Given the description of an element on the screen output the (x, y) to click on. 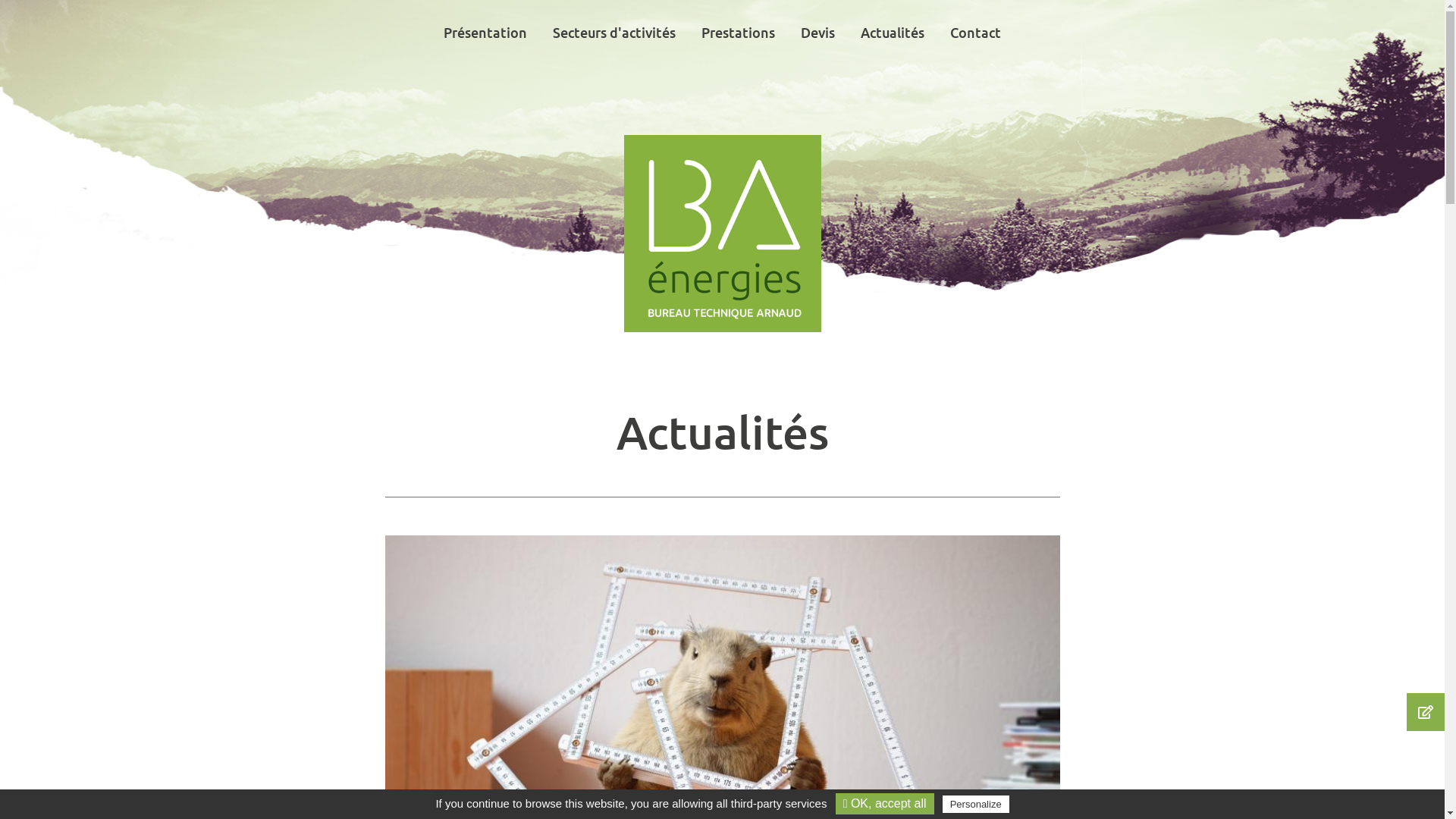
Prestations Element type: text (738, 32)
Personalize Element type: text (975, 803)
Contact Element type: text (975, 32)
Devis Element type: text (817, 32)
